Given the description of an element on the screen output the (x, y) to click on. 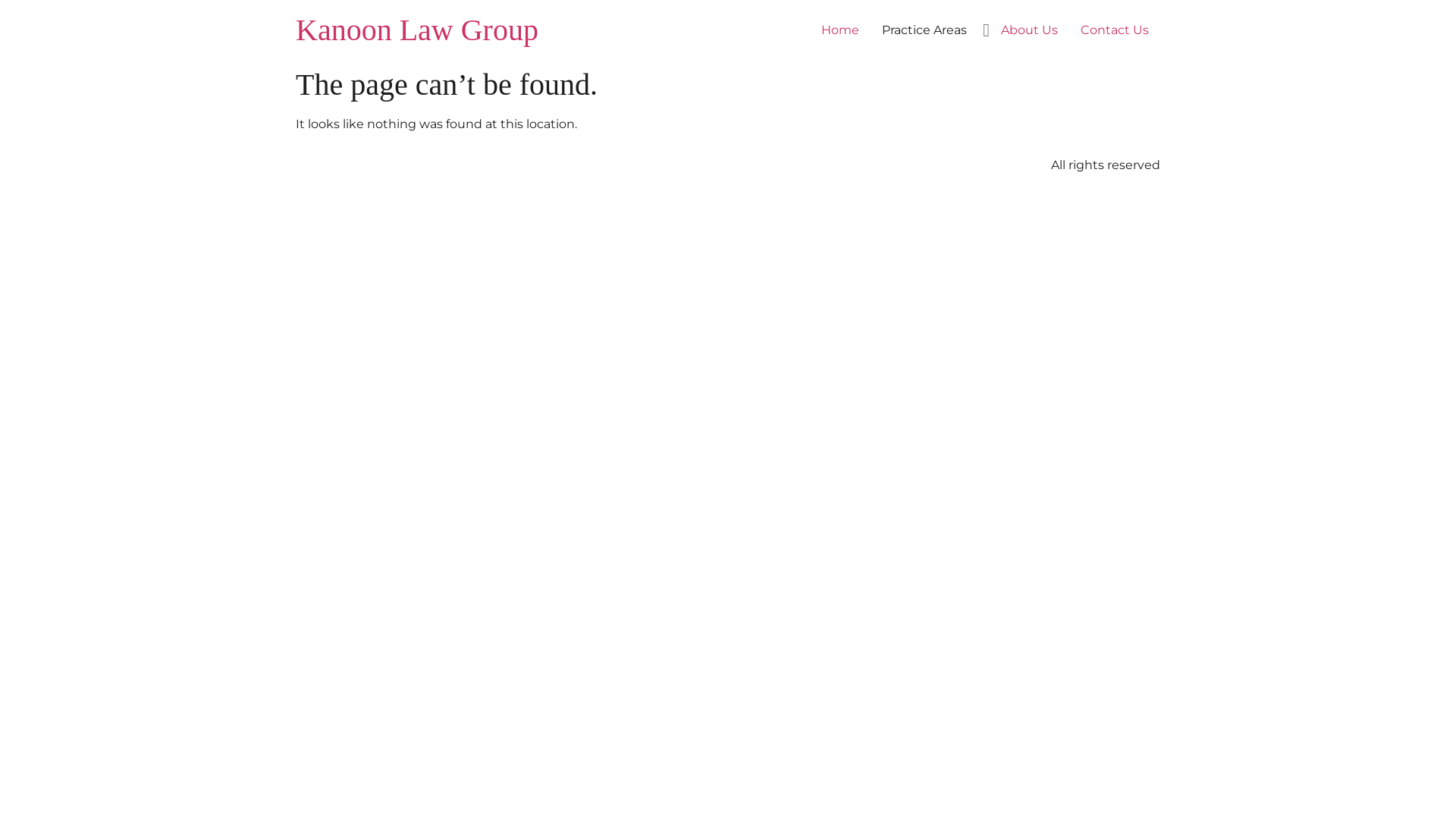
Contact Us Element type: text (1114, 30)
Practice Areas Element type: text (924, 30)
Home Element type: text (839, 30)
About Us Element type: text (1029, 30)
Kanoon Law Group Element type: text (416, 29)
